Given the description of an element on the screen output the (x, y) to click on. 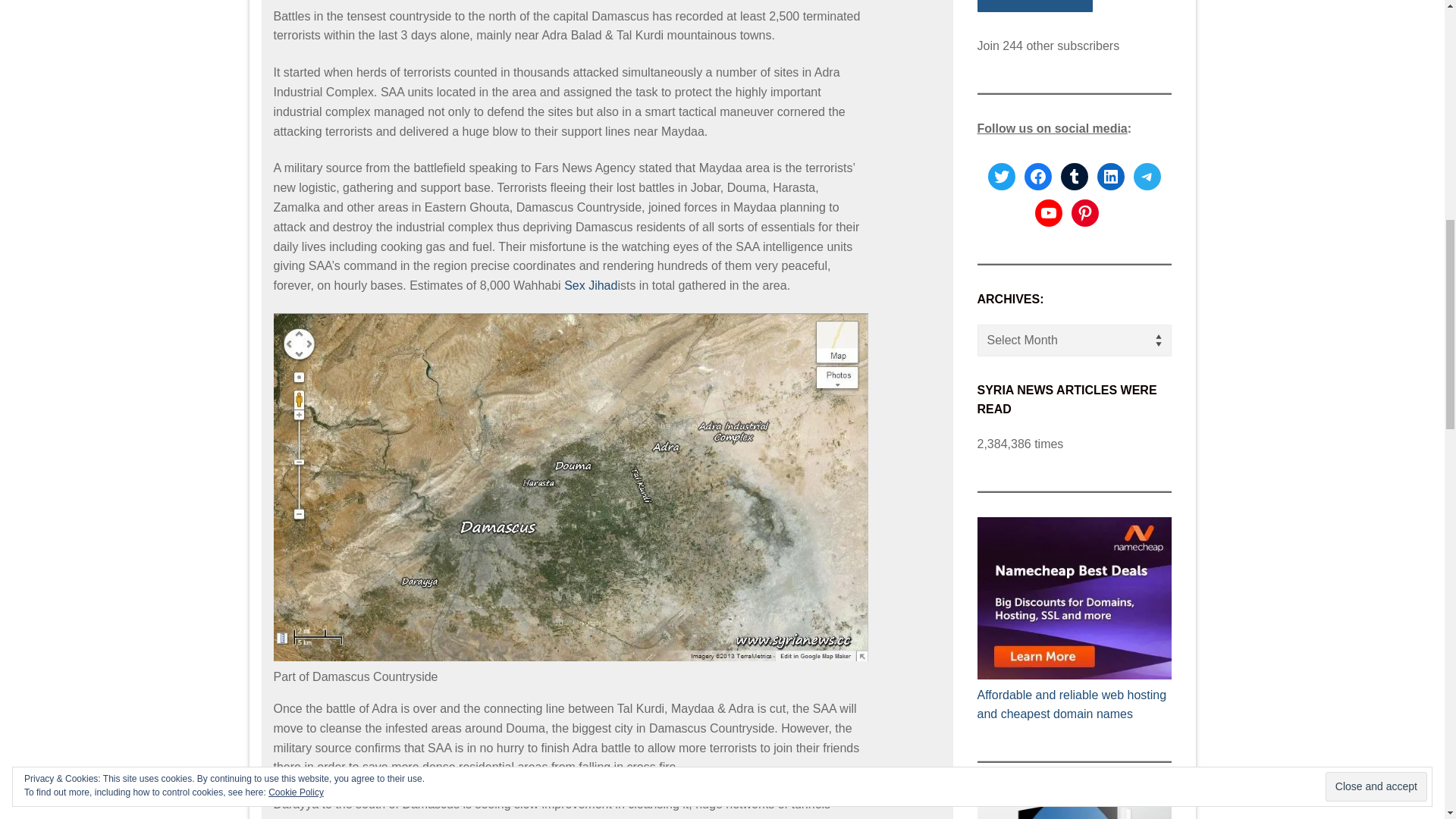
Sex Jihad (590, 285)
